Given the description of an element on the screen output the (x, y) to click on. 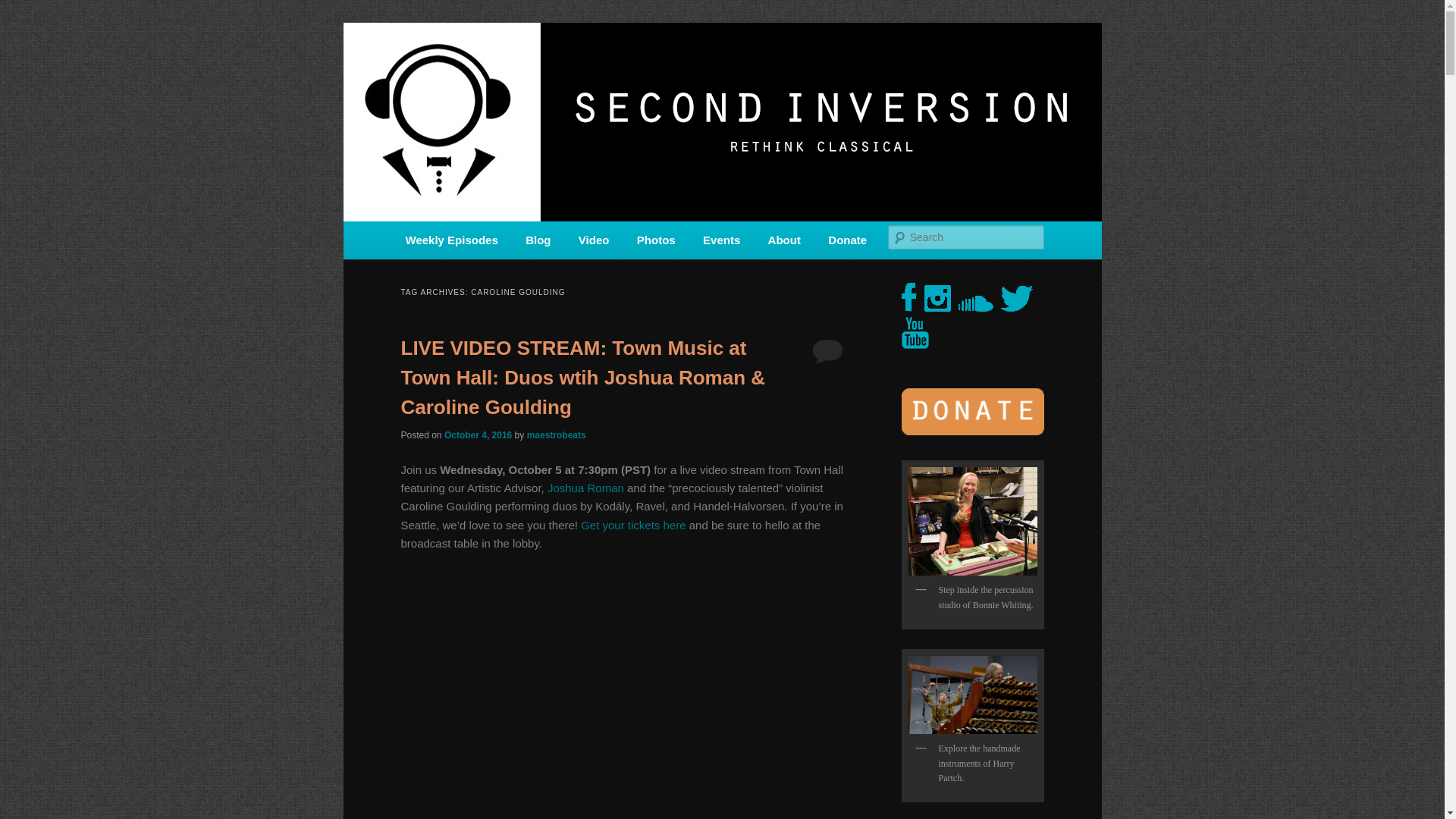
maestrobeats (556, 434)
Get your tickets here (632, 524)
October 4, 2016 (478, 434)
Events (721, 240)
2:29 PM (478, 434)
Video (593, 240)
Joshua Roman (585, 487)
Donate (846, 240)
Weekly Episodes (451, 240)
SECOND INVERSION (514, 77)
Search (24, 8)
View all posts by maestrobeats (556, 434)
Photos (655, 240)
About (783, 240)
